Given the description of an element on the screen output the (x, y) to click on. 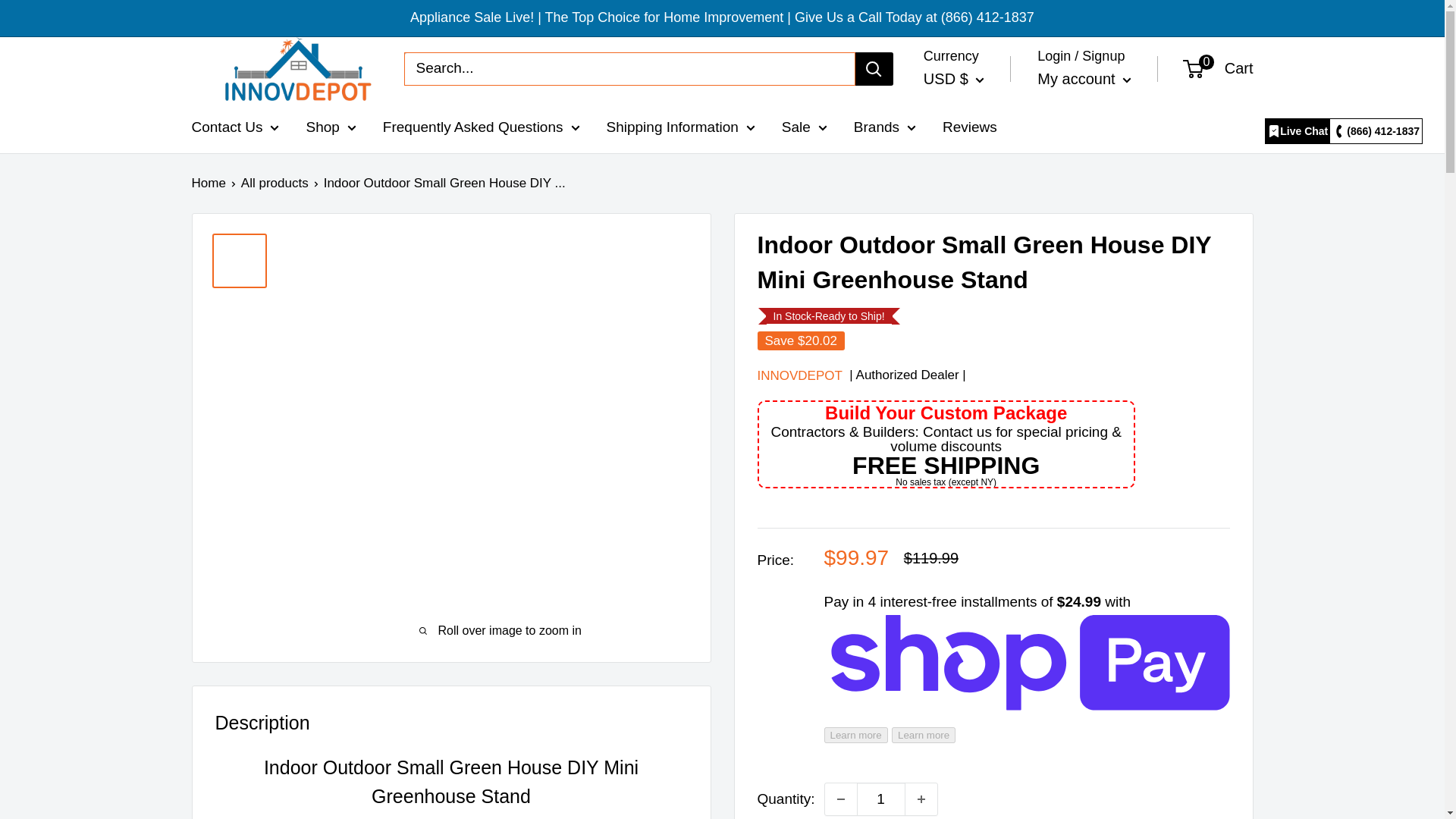
Decrease quantity by 1 (841, 798)
1 (881, 798)
Increase quantity by 1 (921, 798)
